Given the description of an element on the screen output the (x, y) to click on. 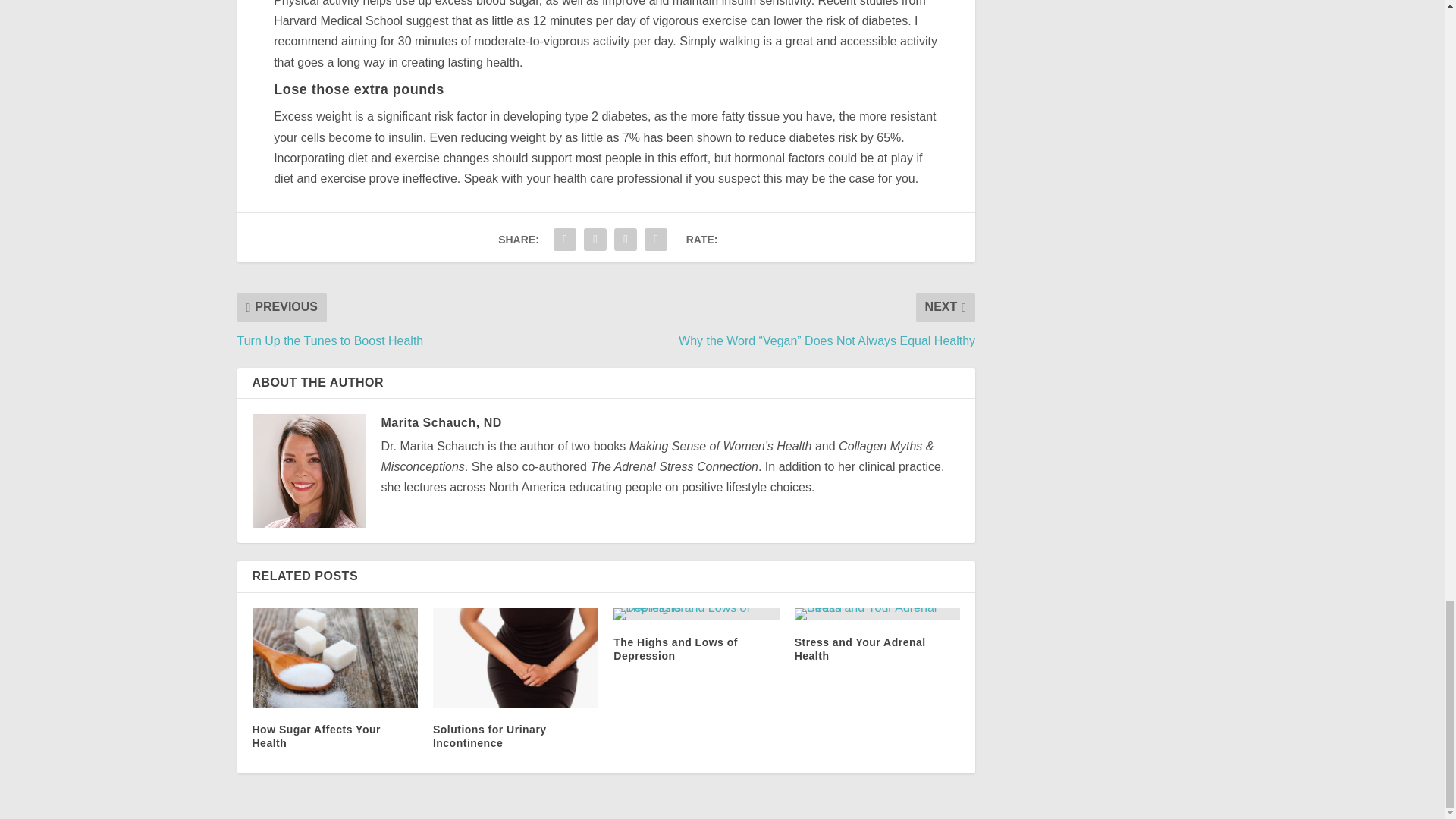
Share "Avert Type 2 Diabetes" via Facebook (564, 239)
Share "Avert Type 2 Diabetes" via Twitter (594, 239)
Share "Avert Type 2 Diabetes" via Email (625, 239)
